Given the description of an element on the screen output the (x, y) to click on. 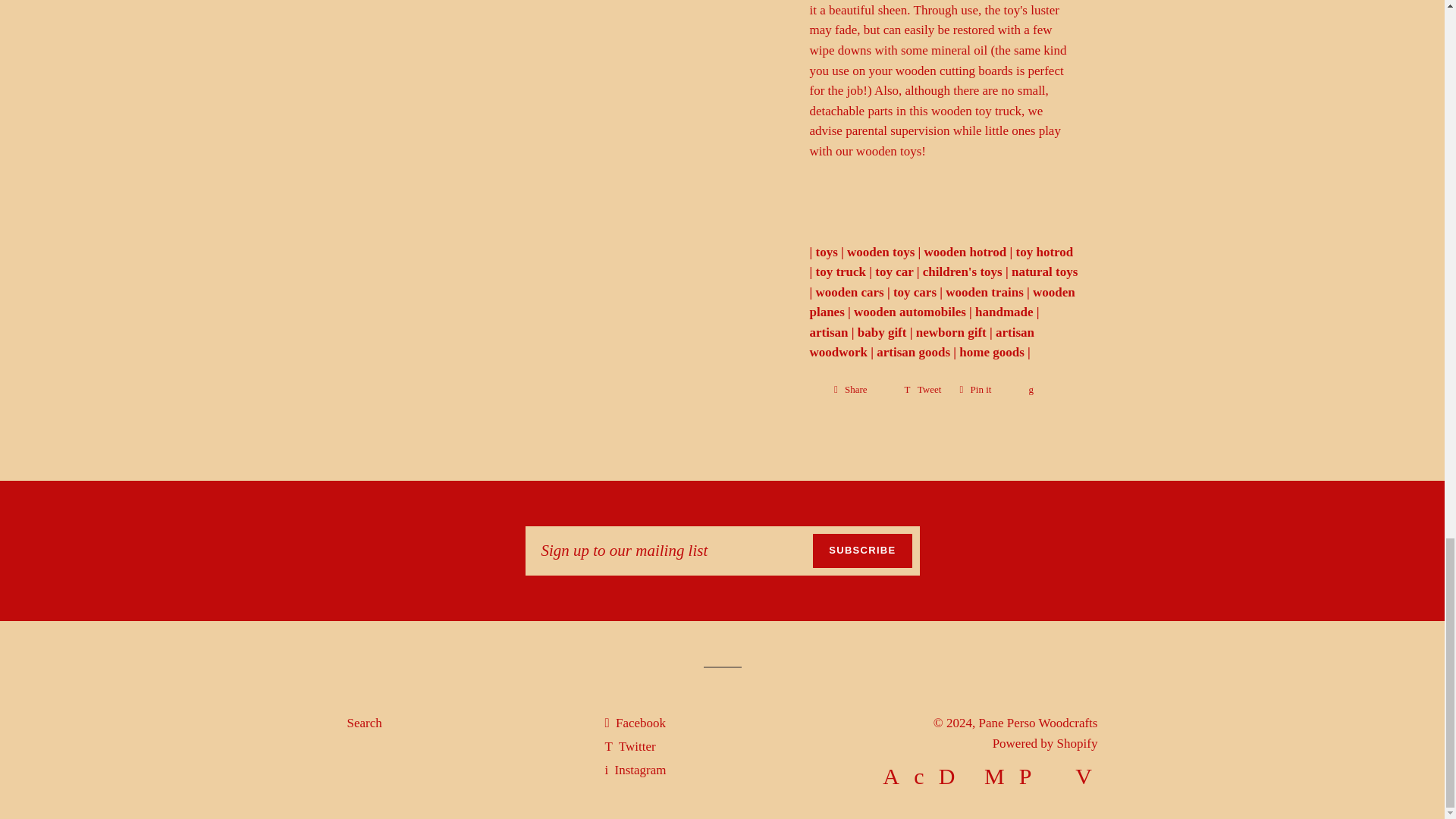
Powered by Shopify (1044, 743)
Pin it (984, 389)
Pane Perso Woodcrafts on Instagram (634, 769)
Pane Perso Woodcrafts on Facebook (634, 722)
Instagram (634, 769)
Facebook (634, 722)
Search (364, 722)
SUBSCRIBE (861, 550)
Pane Perso Woodcrafts (1037, 722)
Pane Perso Woodcrafts on Twitter (629, 746)
Share (860, 389)
Twitter (629, 746)
Tweet (922, 389)
